Given the description of an element on the screen output the (x, y) to click on. 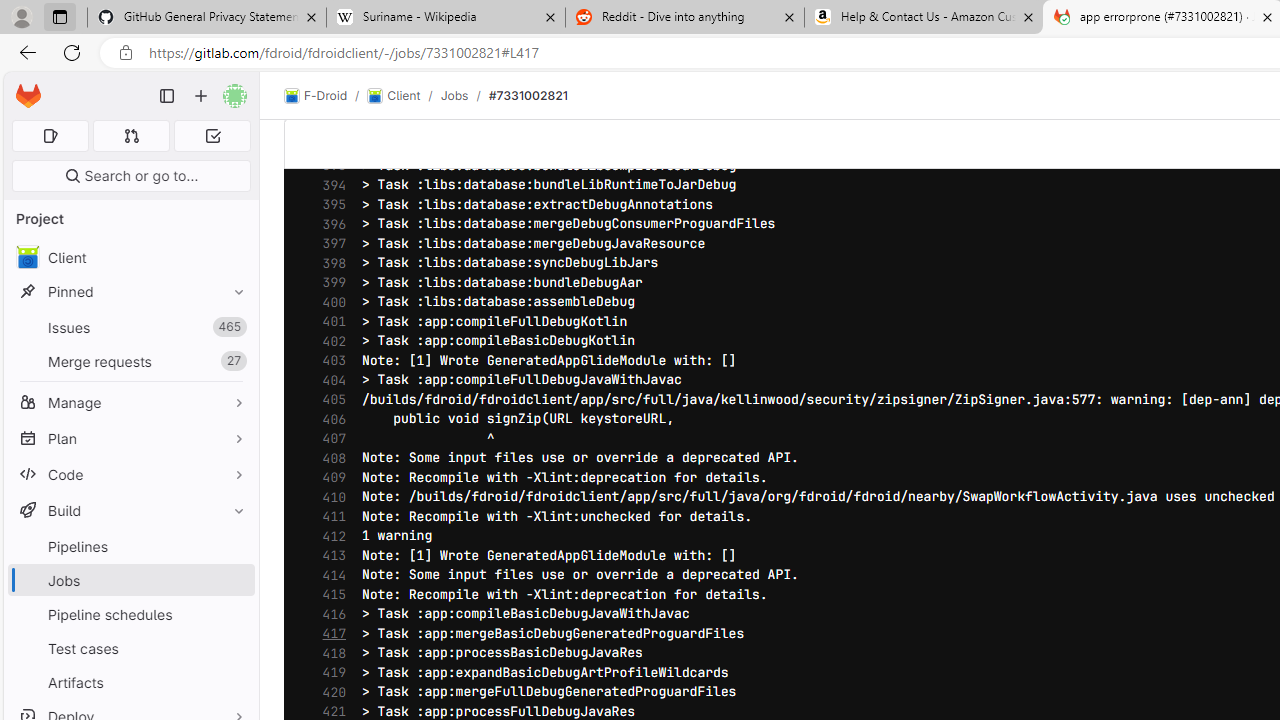
Manage (130, 402)
389 (329, 87)
402 (329, 341)
391 (329, 126)
Suriname - Wikipedia (445, 17)
413 (329, 555)
Create new... (201, 96)
394 (329, 184)
Test cases (130, 648)
Merge requests 27 (130, 361)
Merge requests27 (130, 361)
414 (329, 575)
To-Do list 0 (212, 136)
Reddit - Dive into anything (684, 17)
